Given the description of an element on the screen output the (x, y) to click on. 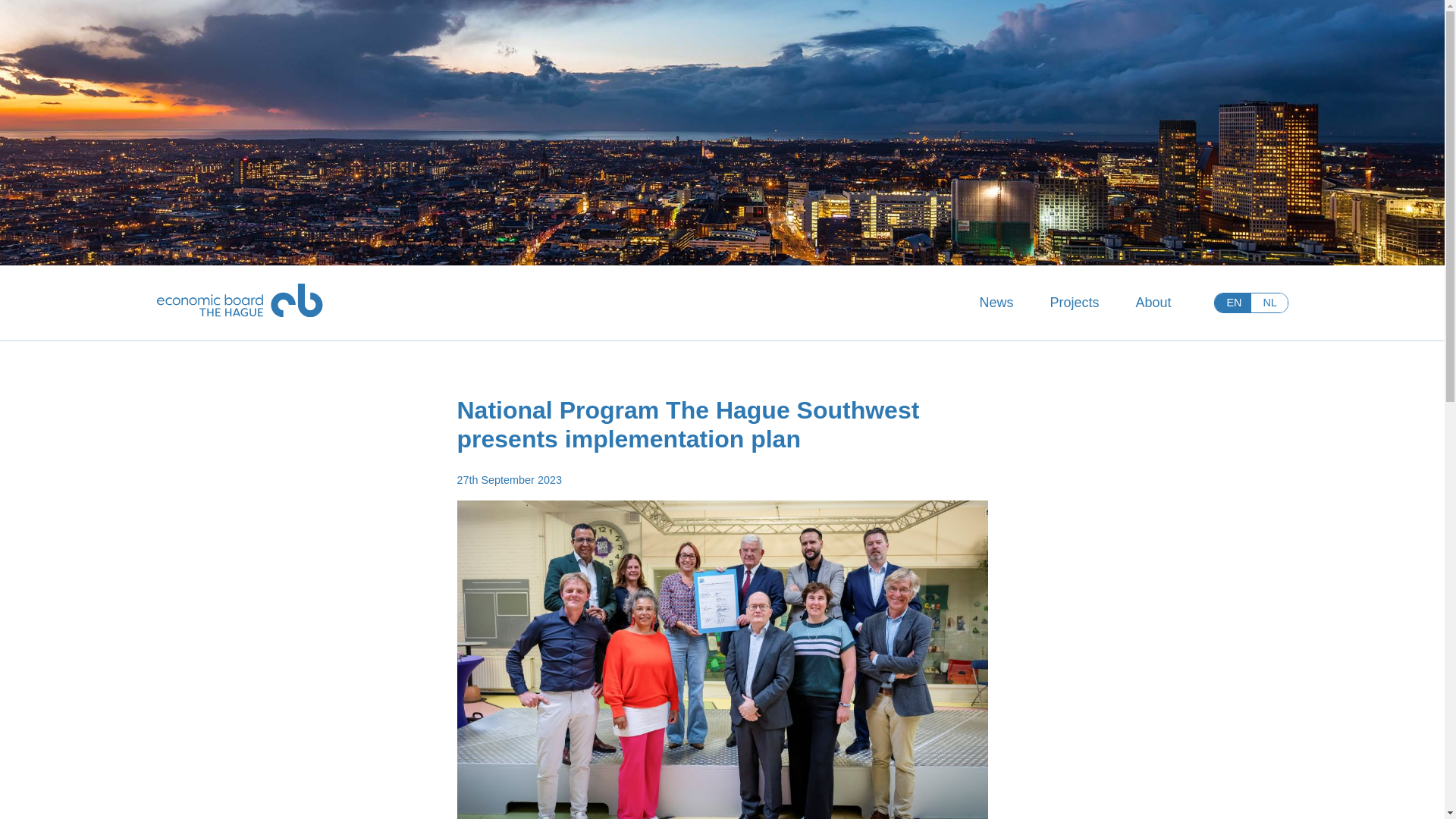
News (995, 302)
About (1152, 302)
Projects (1074, 302)
NL (1268, 302)
